Given the description of an element on the screen output the (x, y) to click on. 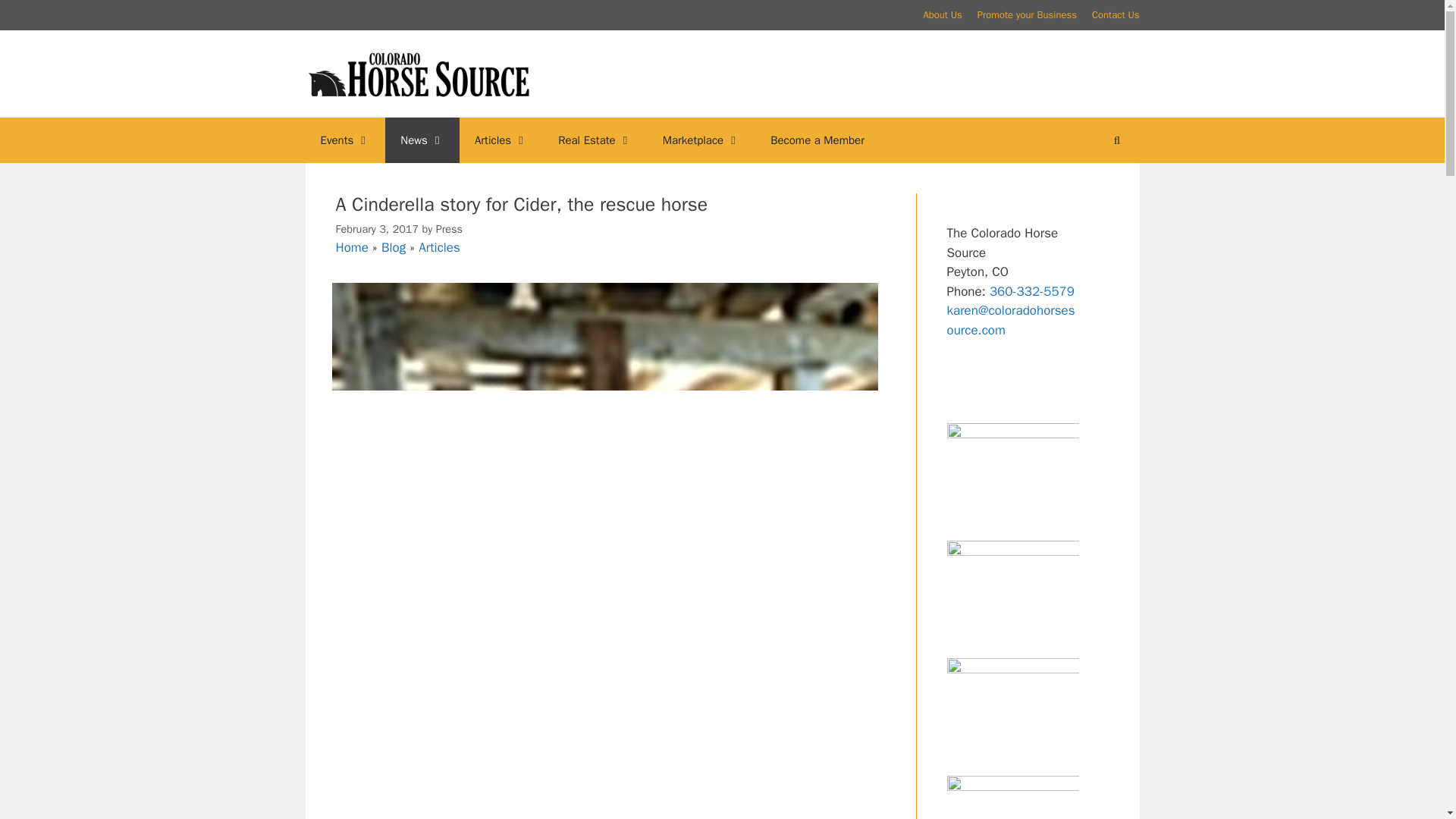
View all posts by Press (449, 228)
Home (351, 247)
Articles (501, 139)
About Us (941, 14)
Promote your Business (1026, 14)
Become a Member (817, 139)
Real Estate (594, 139)
News (422, 139)
Articles (439, 247)
Events (344, 139)
